Given the description of an element on the screen output the (x, y) to click on. 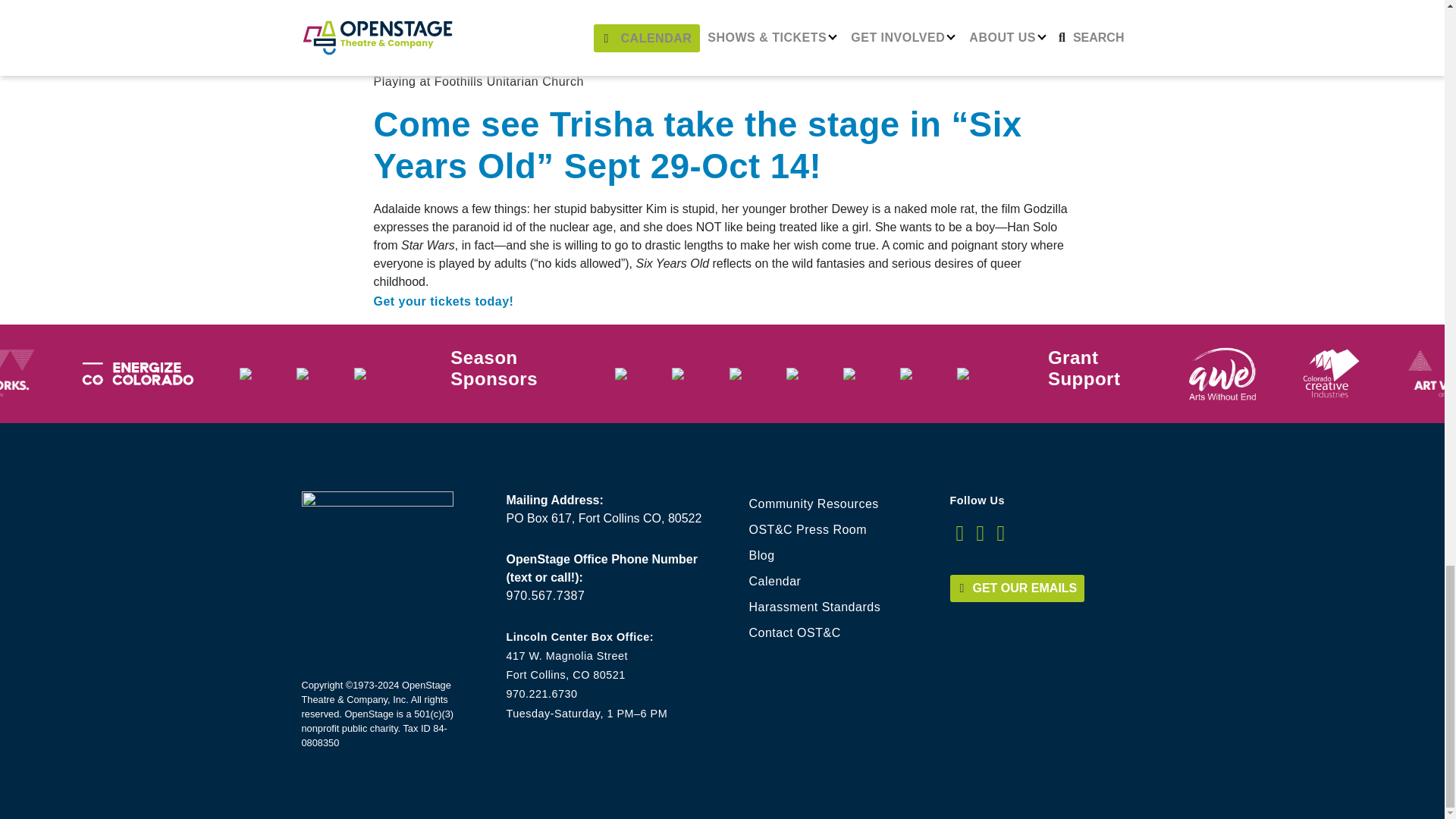
970.221.6730 (542, 693)
Get your tickets today! (442, 300)
970.567.7387 (545, 594)
Calendar (838, 581)
Community Resources (838, 503)
Harassment Standards (838, 606)
Blog (838, 555)
